Given the description of an element on the screen output the (x, y) to click on. 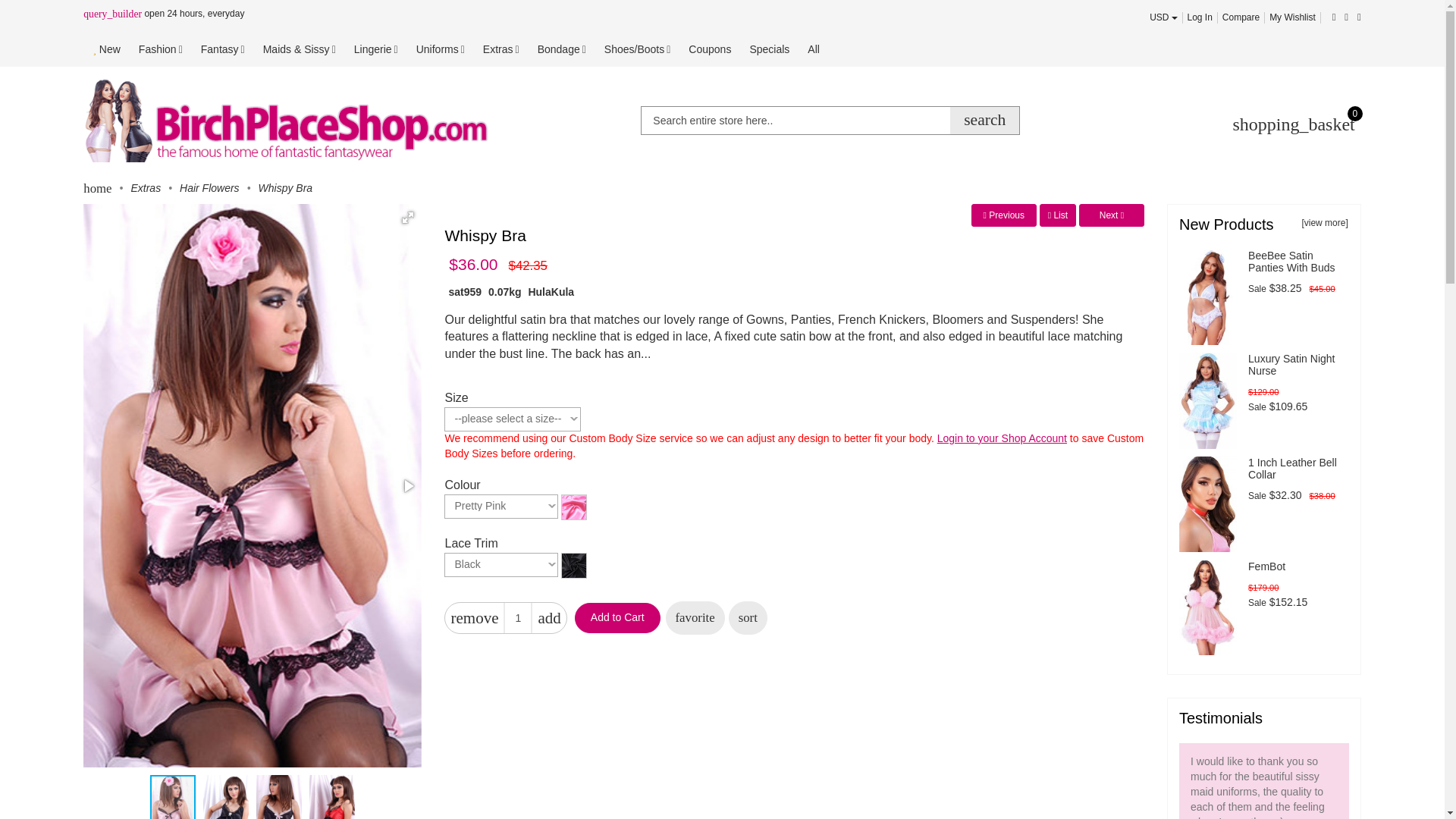
Search entire store here.. (830, 120)
see more of our colours (573, 563)
see more of our colours (573, 505)
1 (517, 617)
Add to Compare (748, 617)
Add to Wishlist (695, 617)
Compare (1241, 17)
My Wishlist (1292, 17)
Log In (1200, 17)
